Given the description of an element on the screen output the (x, y) to click on. 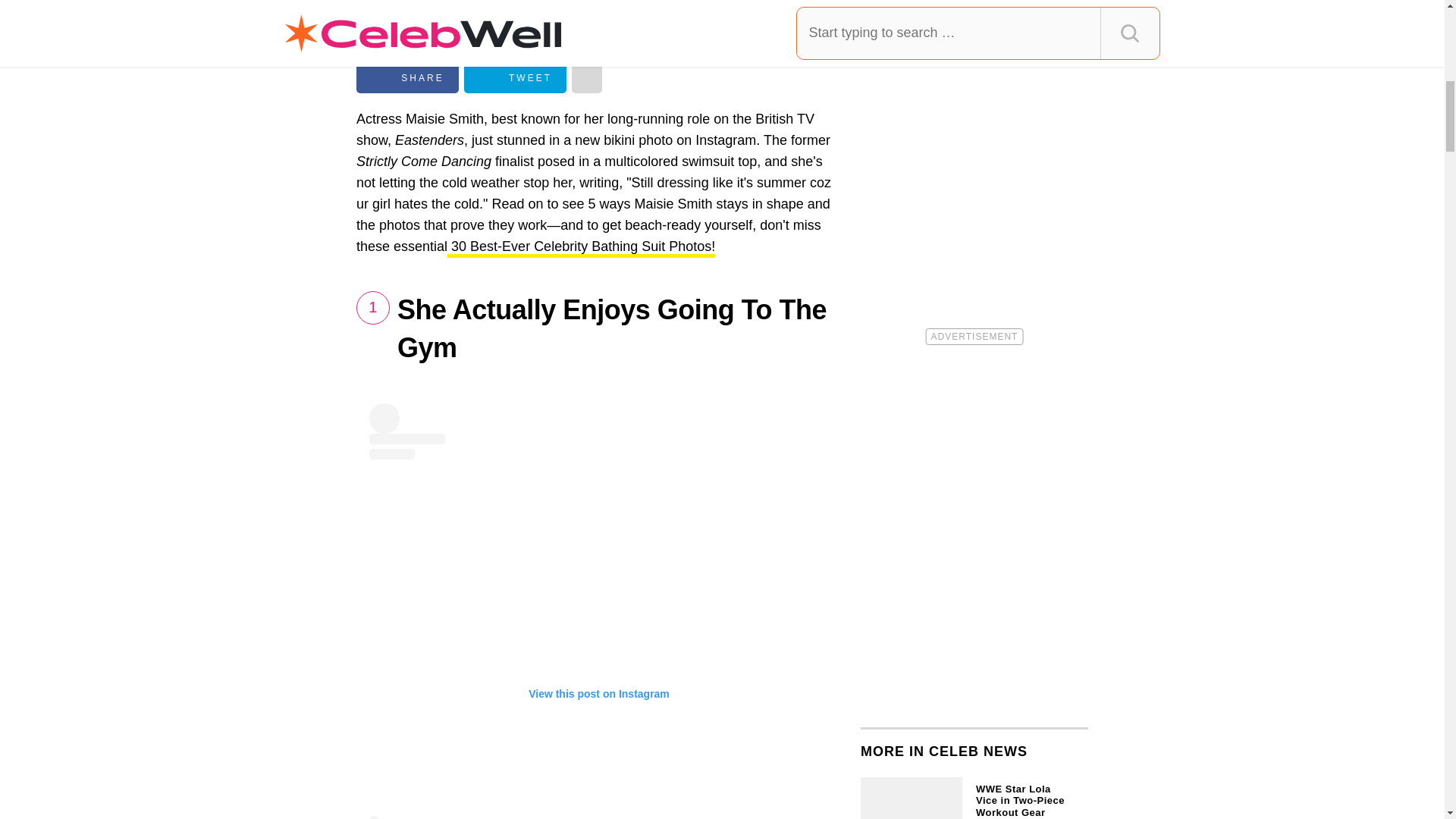
Share on Twitter (515, 78)
Twitter (515, 78)
Share via e-mail (587, 78)
Share on Facebook (407, 78)
Facebook (407, 78)
30 Best-Ever Celebrity Bathing Suit Photos! (580, 248)
